Given the description of an element on the screen output the (x, y) to click on. 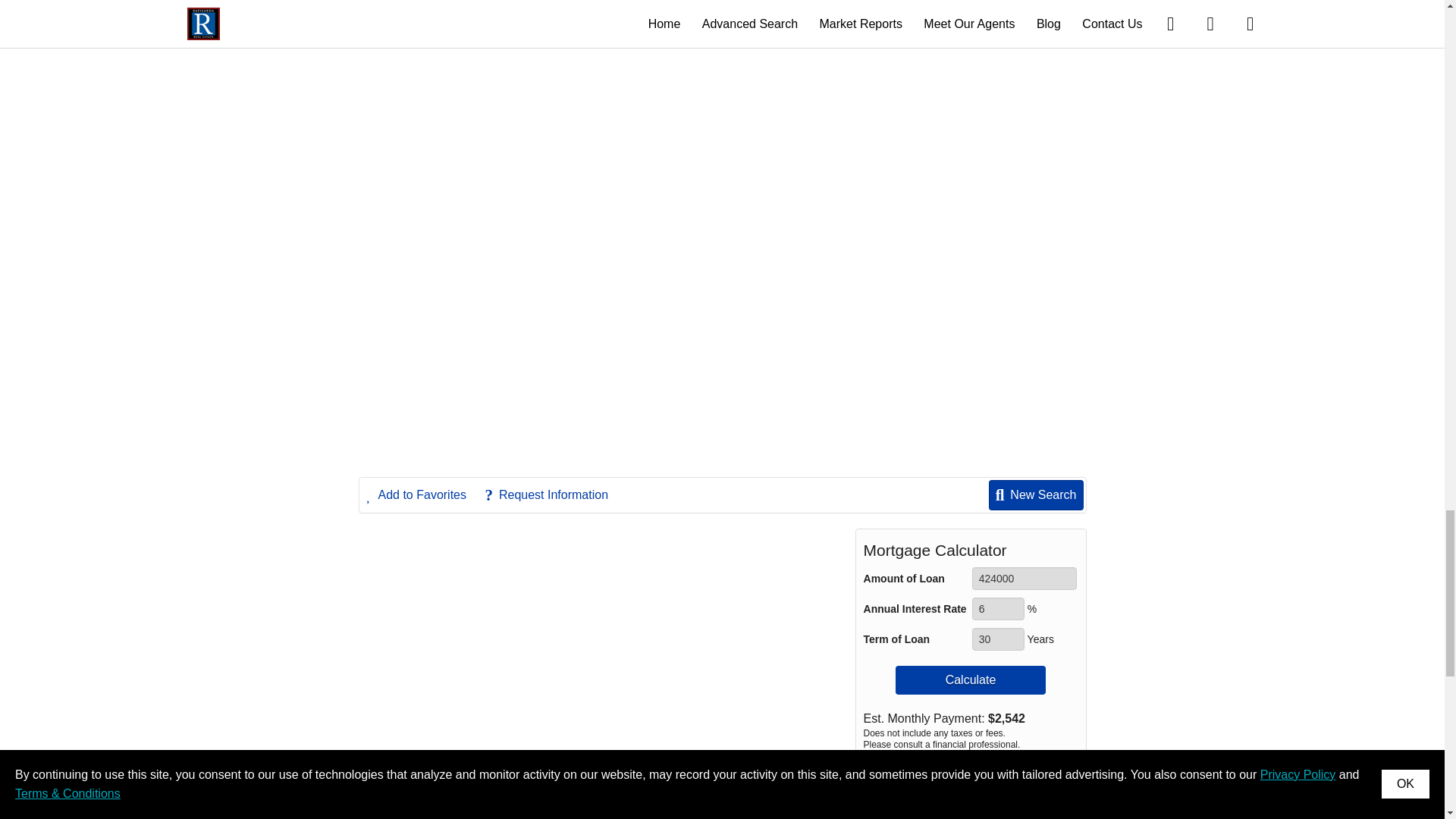
30 (998, 639)
424000 (1024, 578)
6 (998, 608)
